Given the description of an element on the screen output the (x, y) to click on. 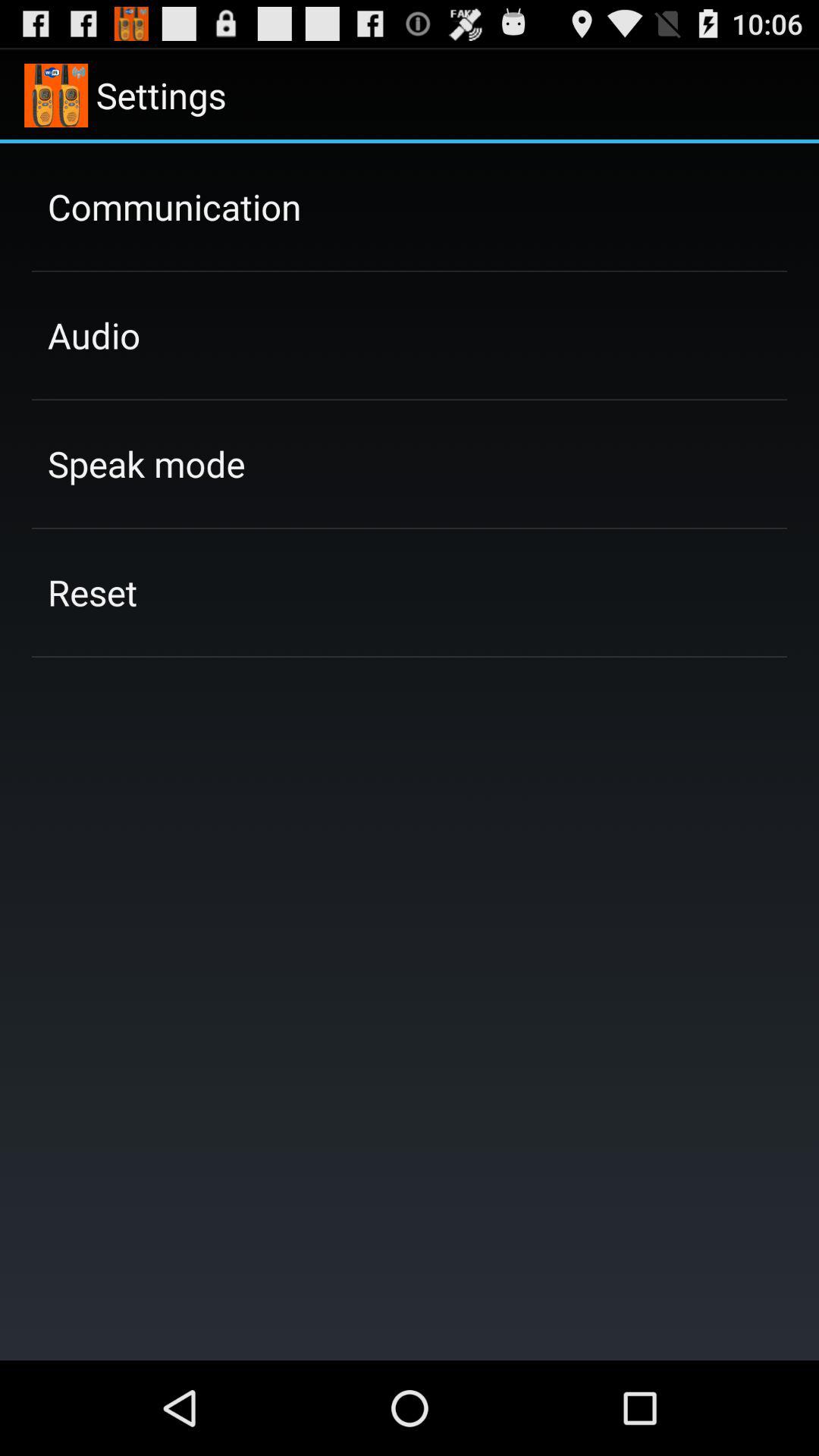
choose the speak mode item (146, 463)
